Given the description of an element on the screen output the (x, y) to click on. 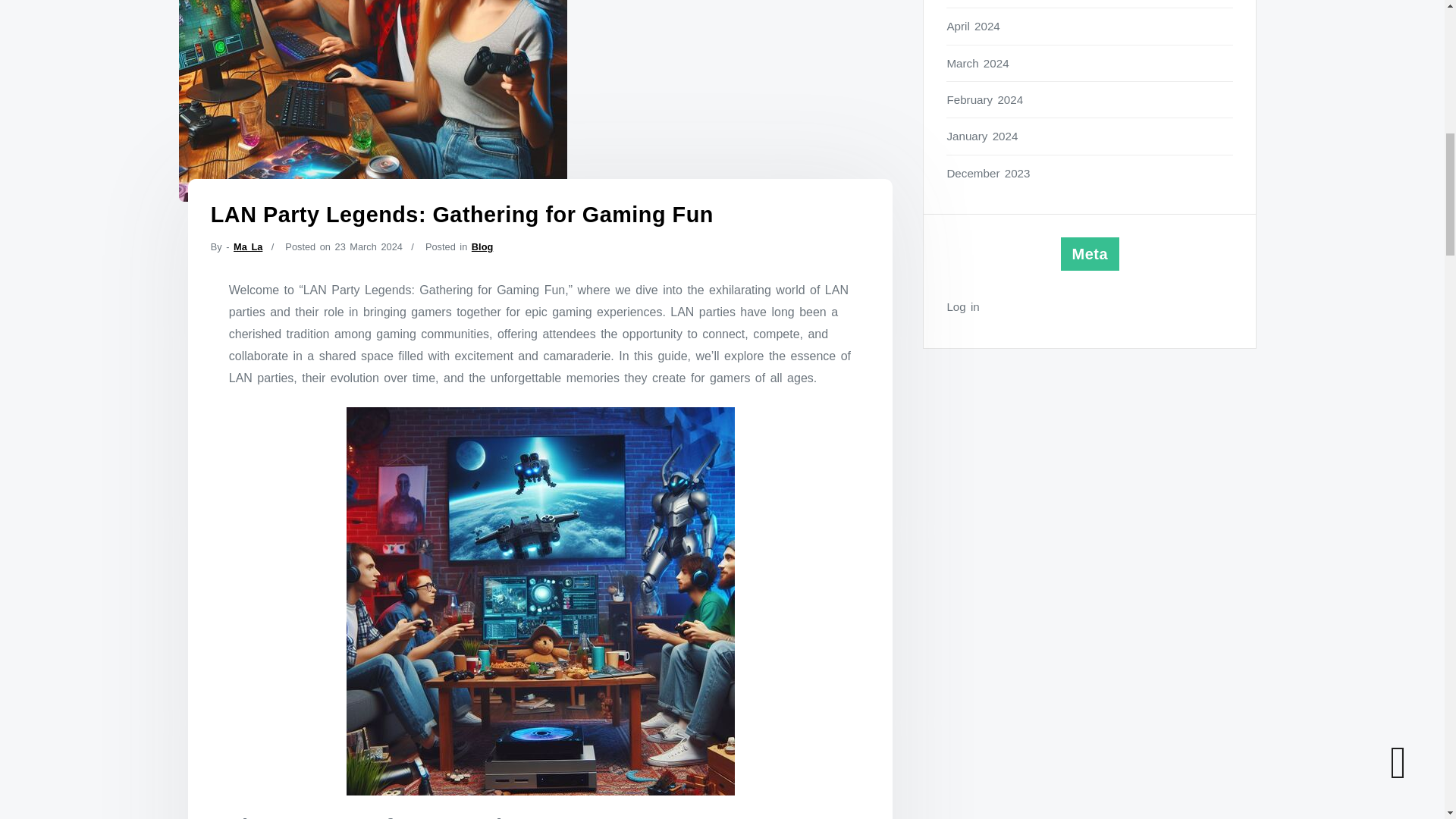
Ma La (247, 246)
April 2024 (1089, 25)
Blog (482, 246)
February 2024 (1089, 99)
Log in (1089, 306)
March 2024 (1089, 63)
January 2024 (1089, 136)
December 2023 (1089, 172)
